Given the description of an element on the screen output the (x, y) to click on. 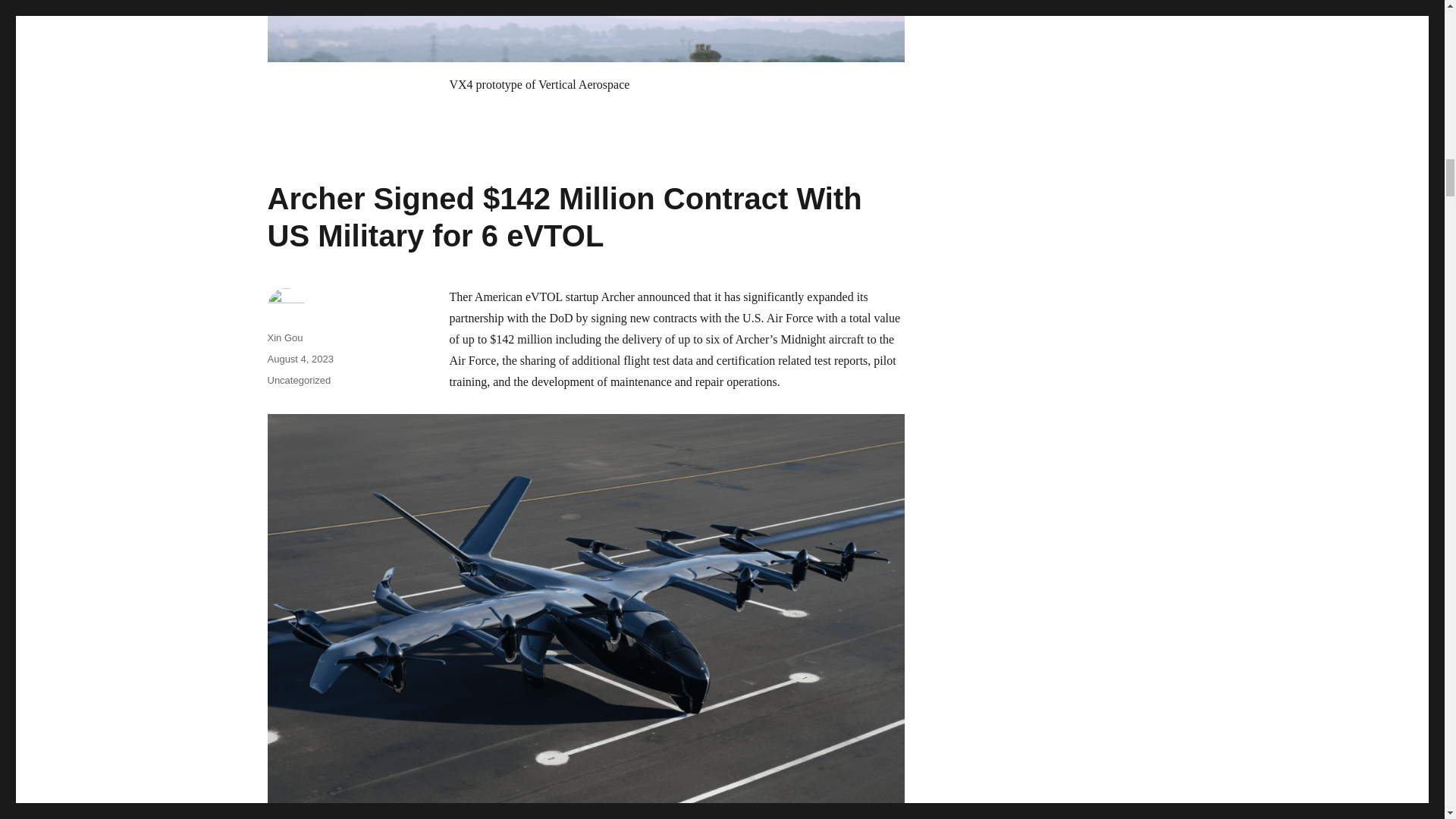
August 4, 2023 (299, 358)
Xin Gou (284, 337)
Uncategorized (298, 379)
